Given the description of an element on the screen output the (x, y) to click on. 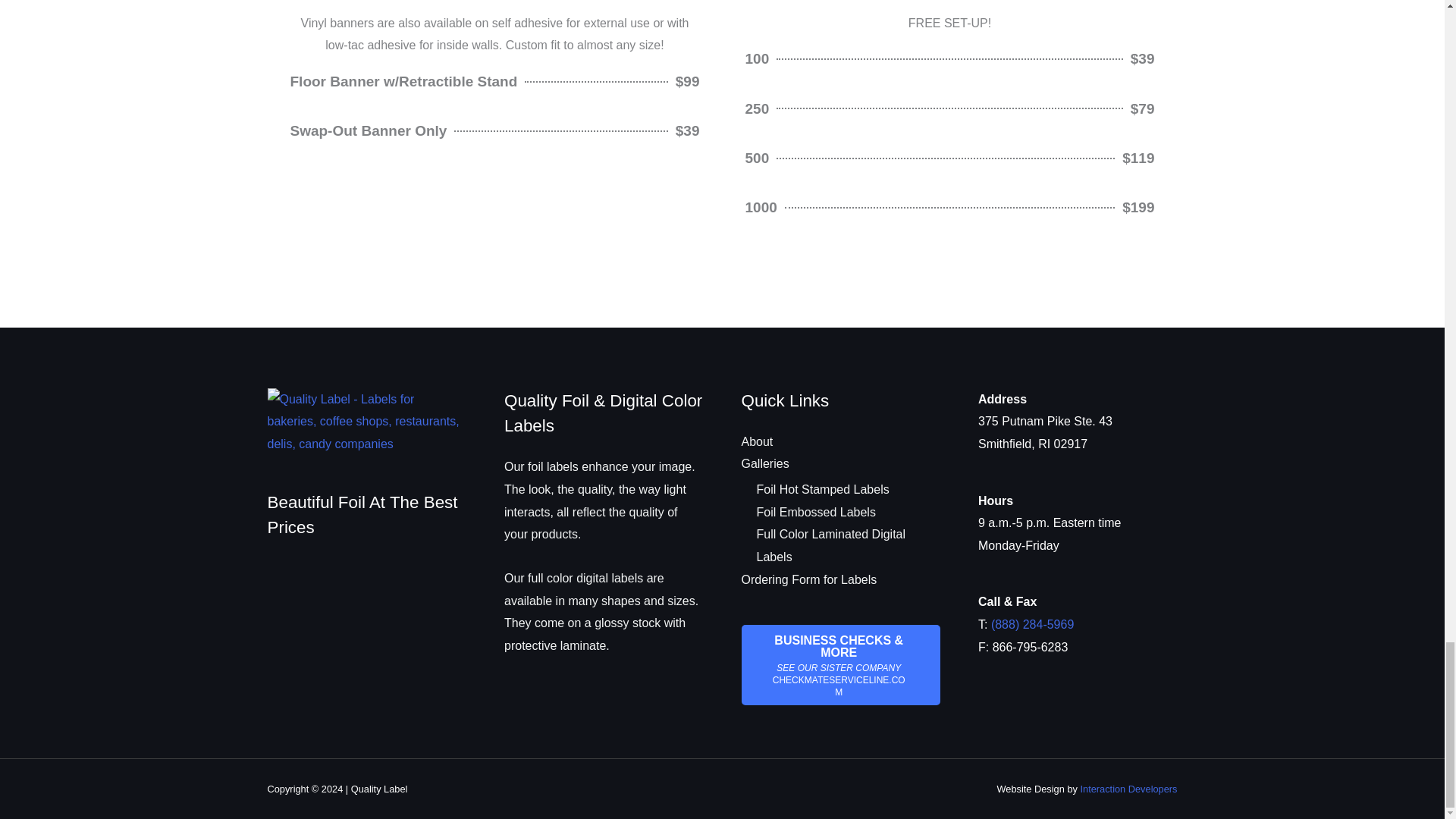
Ordering Form for Labels (809, 579)
Galleries (765, 463)
Full Color Laminated Digital Labels (831, 545)
Foil Hot Stamped Labels (823, 489)
Foil Embossed Labels (816, 512)
About (757, 440)
